Given the description of an element on the screen output the (x, y) to click on. 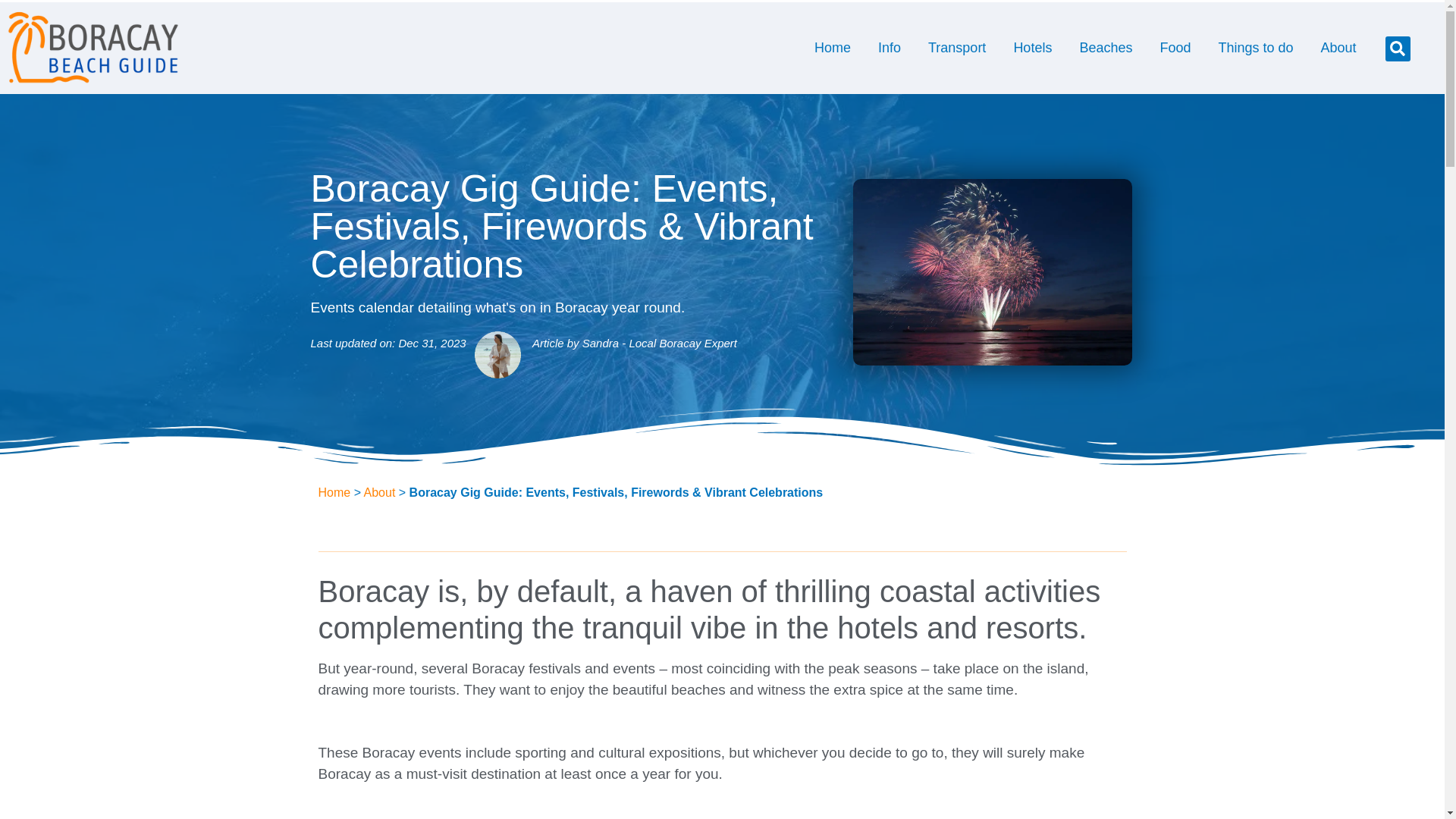
Home (832, 47)
Transport (956, 47)
Info (889, 47)
About (1338, 47)
Things to do (1255, 47)
Hotels (1031, 47)
Beaches (1105, 47)
Food (1174, 47)
